Given the description of an element on the screen output the (x, y) to click on. 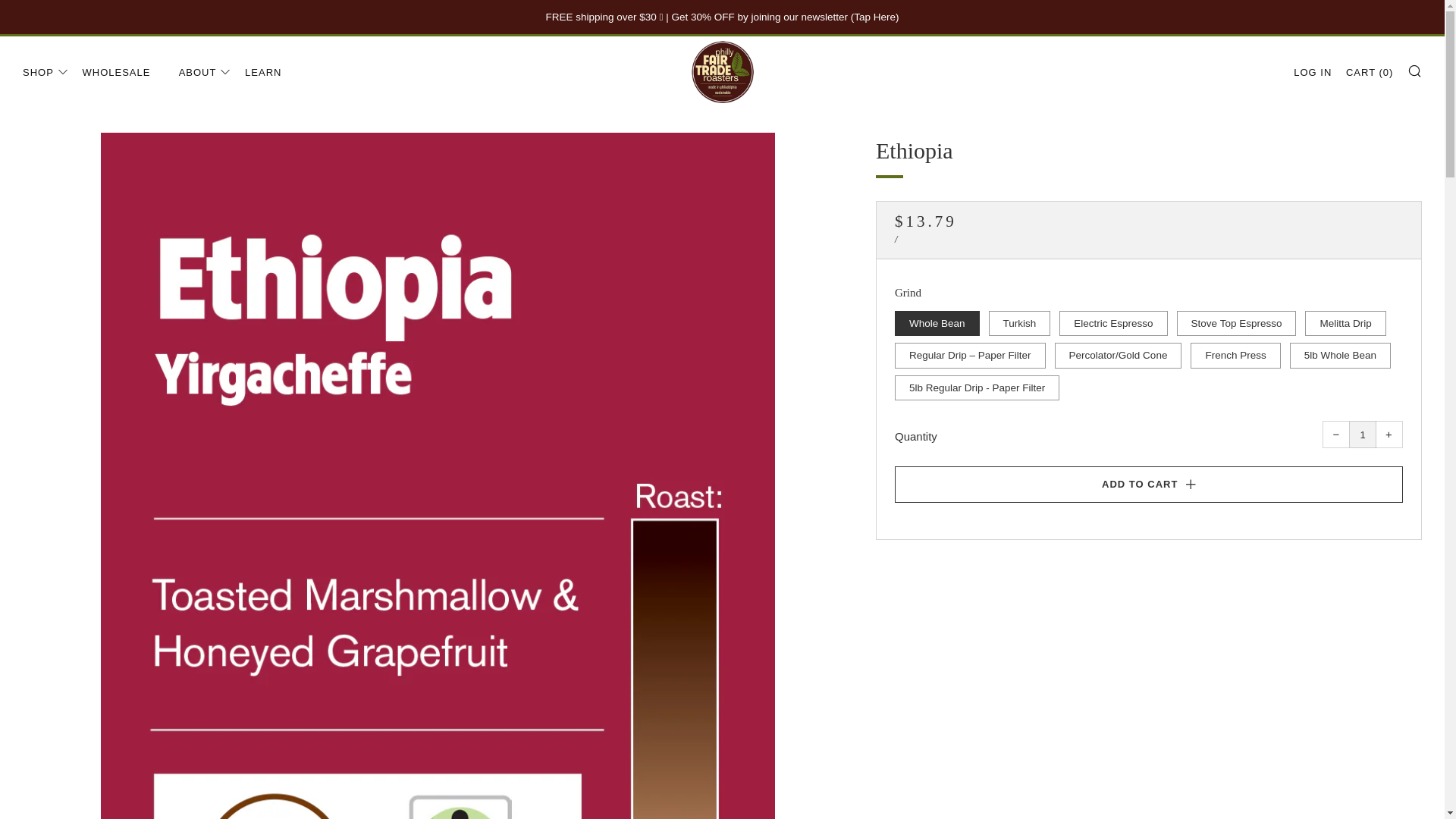
SHOP (45, 72)
LEARN (262, 72)
ABOUT (205, 72)
LOG IN (1313, 72)
